Given the description of an element on the screen output the (x, y) to click on. 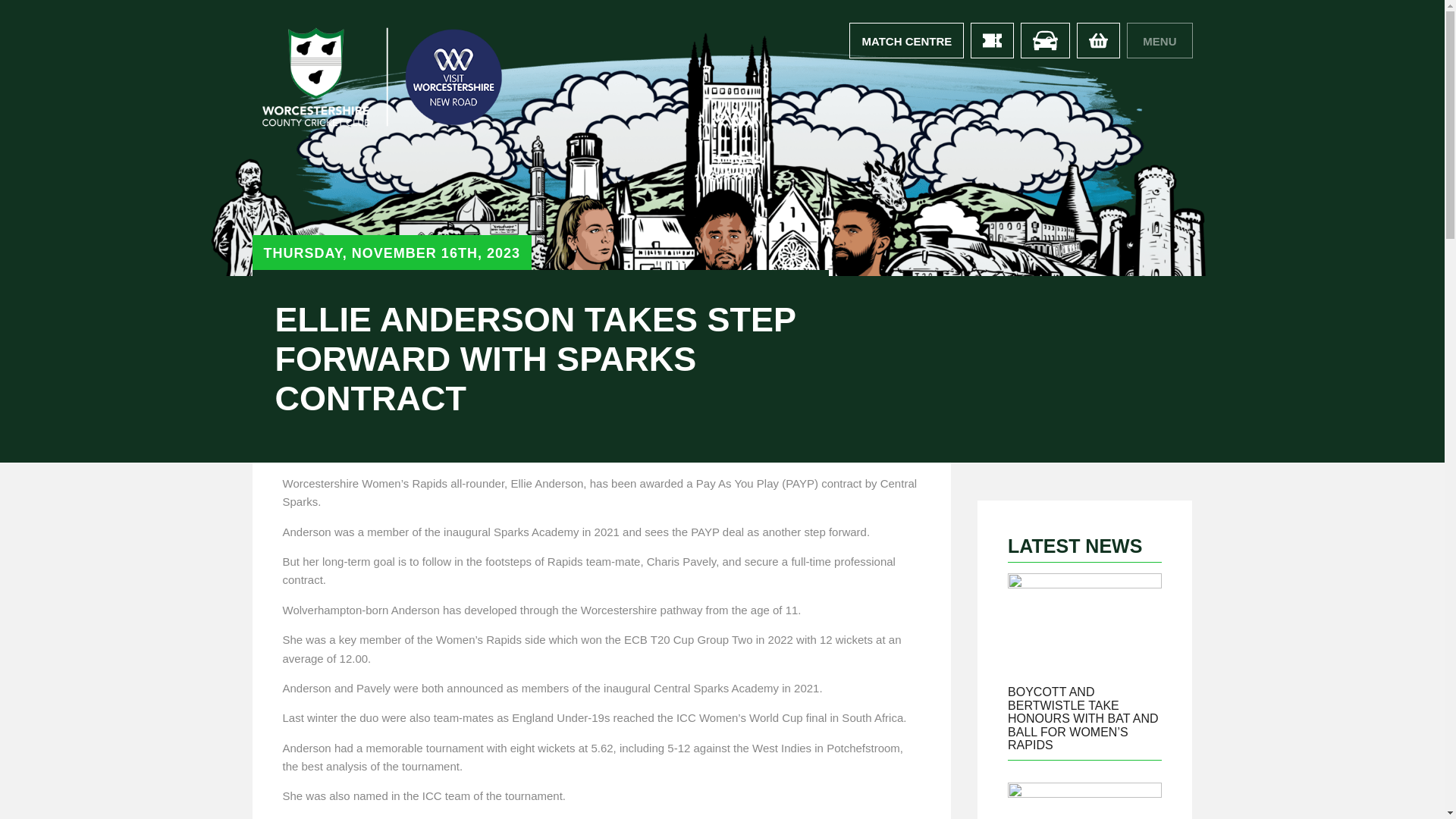
Get tickets (992, 40)
View shop (1098, 40)
MENU (1159, 40)
View account (905, 40)
Parking (1045, 40)
MATCH CENTRE (905, 40)
